Given the description of an element on the screen output the (x, y) to click on. 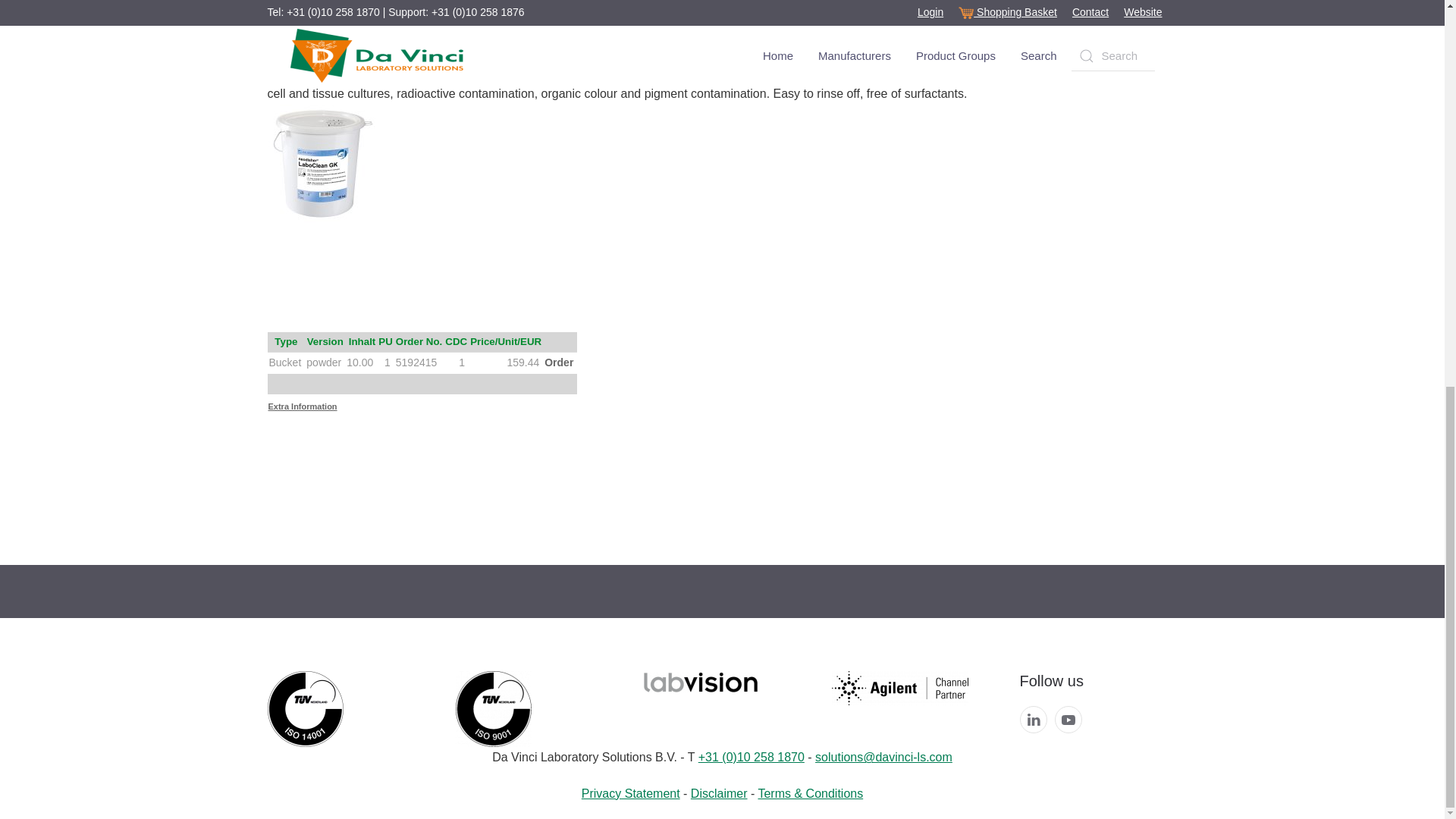
Mail Da Vinci LS (883, 757)
Bel Da Vinci LS (751, 757)
Order (558, 362)
Extra Information (302, 406)
Privacy beleid (629, 793)
